Given the description of an element on the screen output the (x, y) to click on. 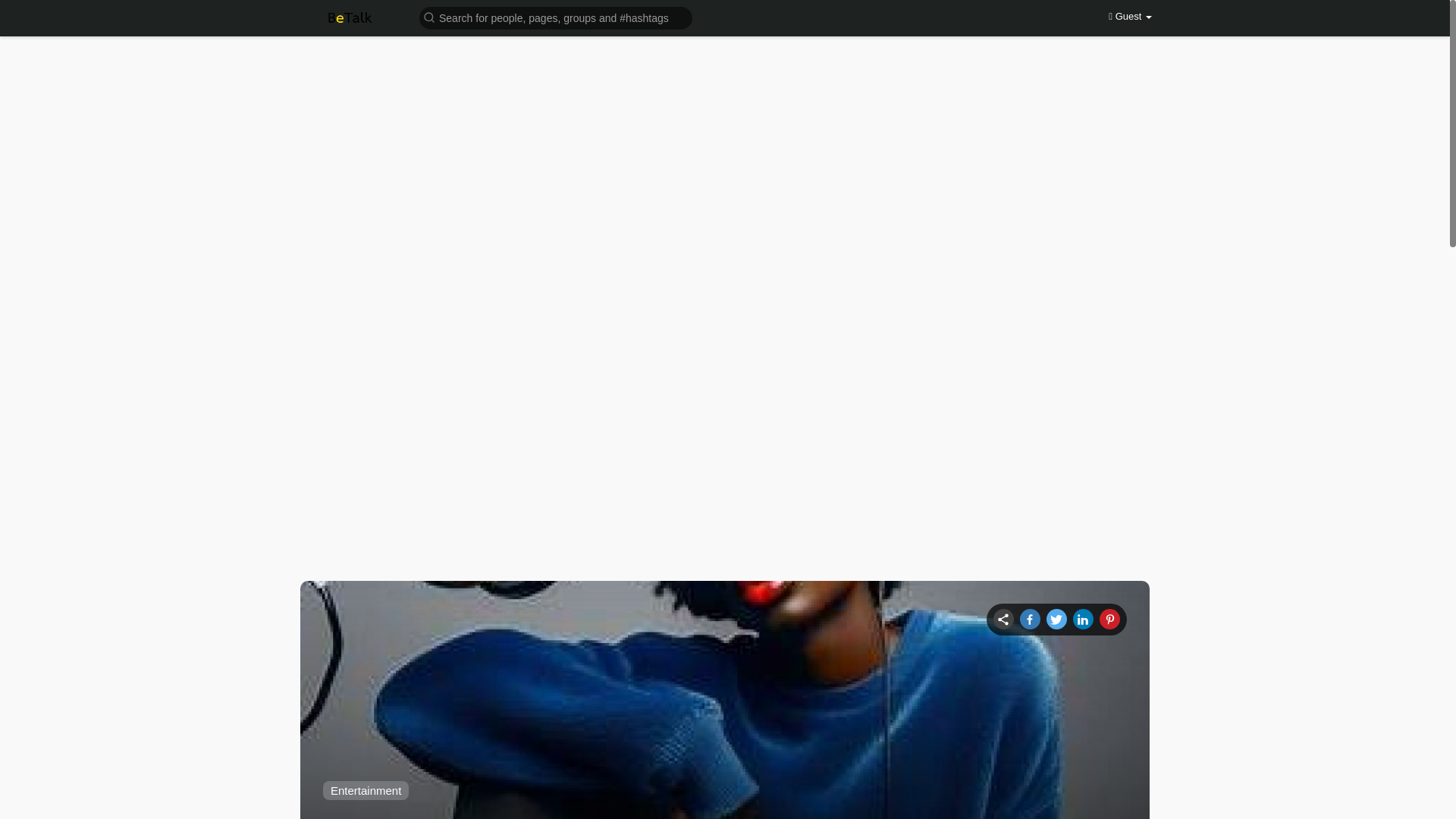
Facebook (1029, 619)
Timeline (1002, 619)
Linkedin (1082, 619)
Twitter (1056, 619)
Entertainment (366, 790)
Guest (1129, 17)
Pinterest (1109, 619)
